Given the description of an element on the screen output the (x, y) to click on. 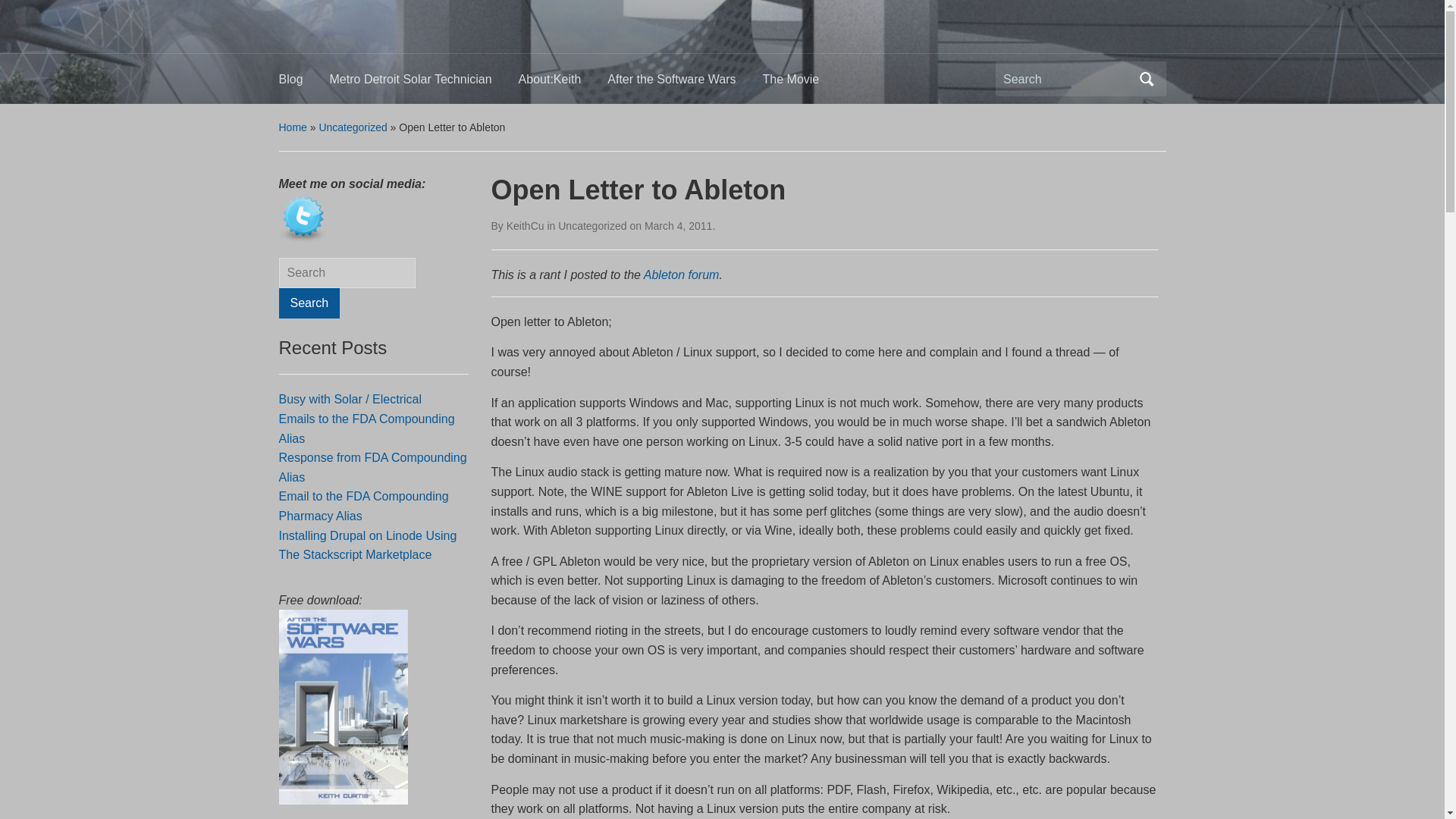
The Movie (803, 83)
About:Keith (563, 83)
Uncategorized (352, 127)
Metro Detroit Solar Technician (424, 83)
Home (293, 127)
View all posts by KeithCu (525, 225)
Search (1146, 78)
Blog (304, 83)
9:14 am (679, 225)
After the Software Wars (684, 83)
Keith on Twitter (303, 218)
